Given the description of an element on the screen output the (x, y) to click on. 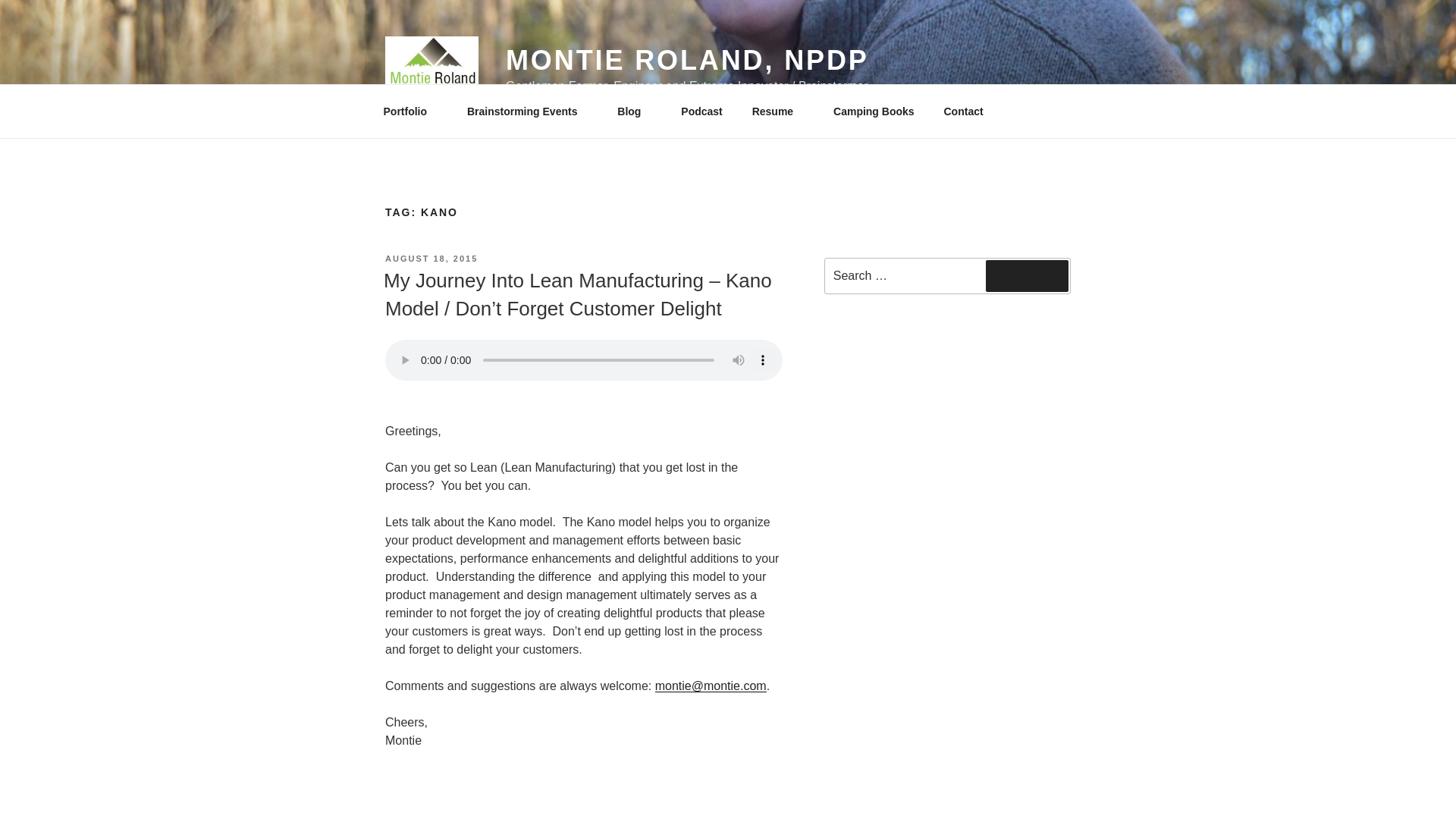
Resume (777, 110)
Brainstorming Events (525, 110)
Portfolio (410, 110)
MONTIE ROLAND, NPDP (687, 60)
Camping Books (874, 110)
Podcast (701, 110)
AUGUST 18, 2015 (431, 257)
Blog (634, 110)
Contact (962, 110)
